Given the description of an element on the screen output the (x, y) to click on. 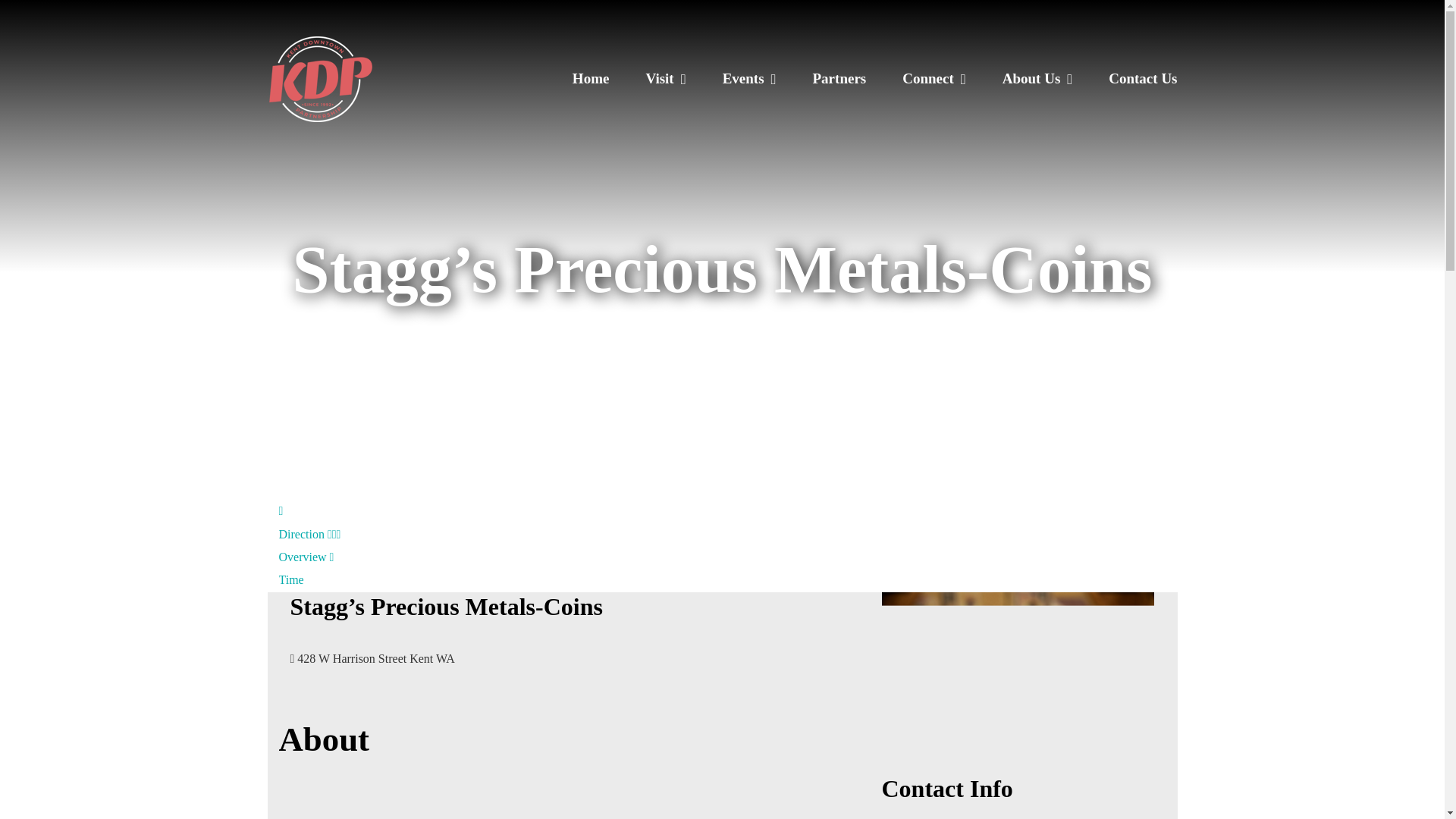
Time (306, 568)
Direction (301, 521)
Overview (309, 545)
